Given the description of an element on the screen output the (x, y) to click on. 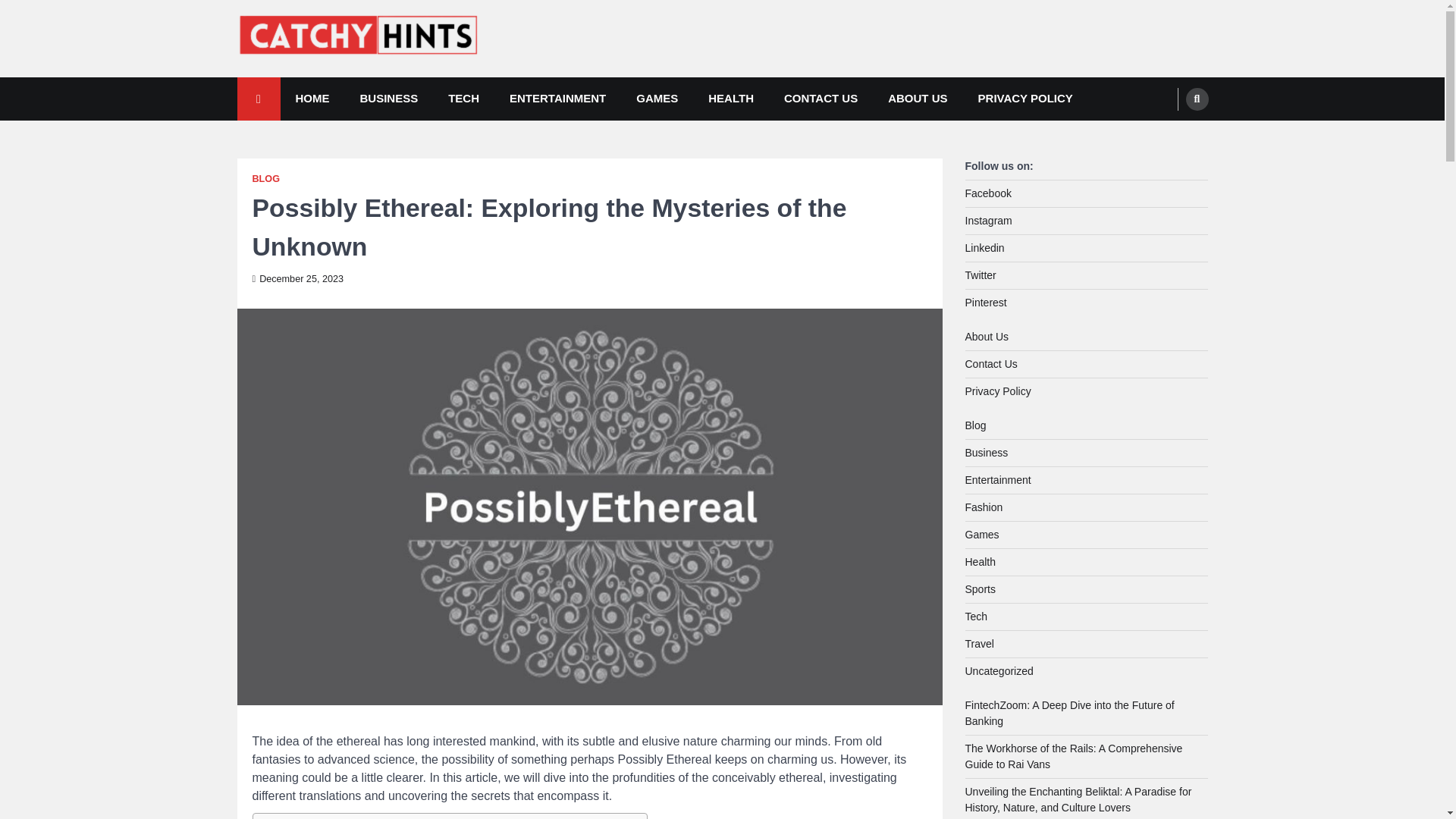
HOME (313, 98)
BLOG (265, 179)
Catchy Hints (307, 81)
TECH (463, 98)
BUSINESS (387, 98)
December 25, 2023 (297, 278)
PRIVACY POLICY (1024, 98)
CONTACT US (820, 98)
ABOUT US (917, 98)
Search (1197, 98)
GAMES (657, 98)
HEALTH (730, 98)
Search (1168, 134)
ENTERTAINMENT (558, 98)
